Given the description of an element on the screen output the (x, y) to click on. 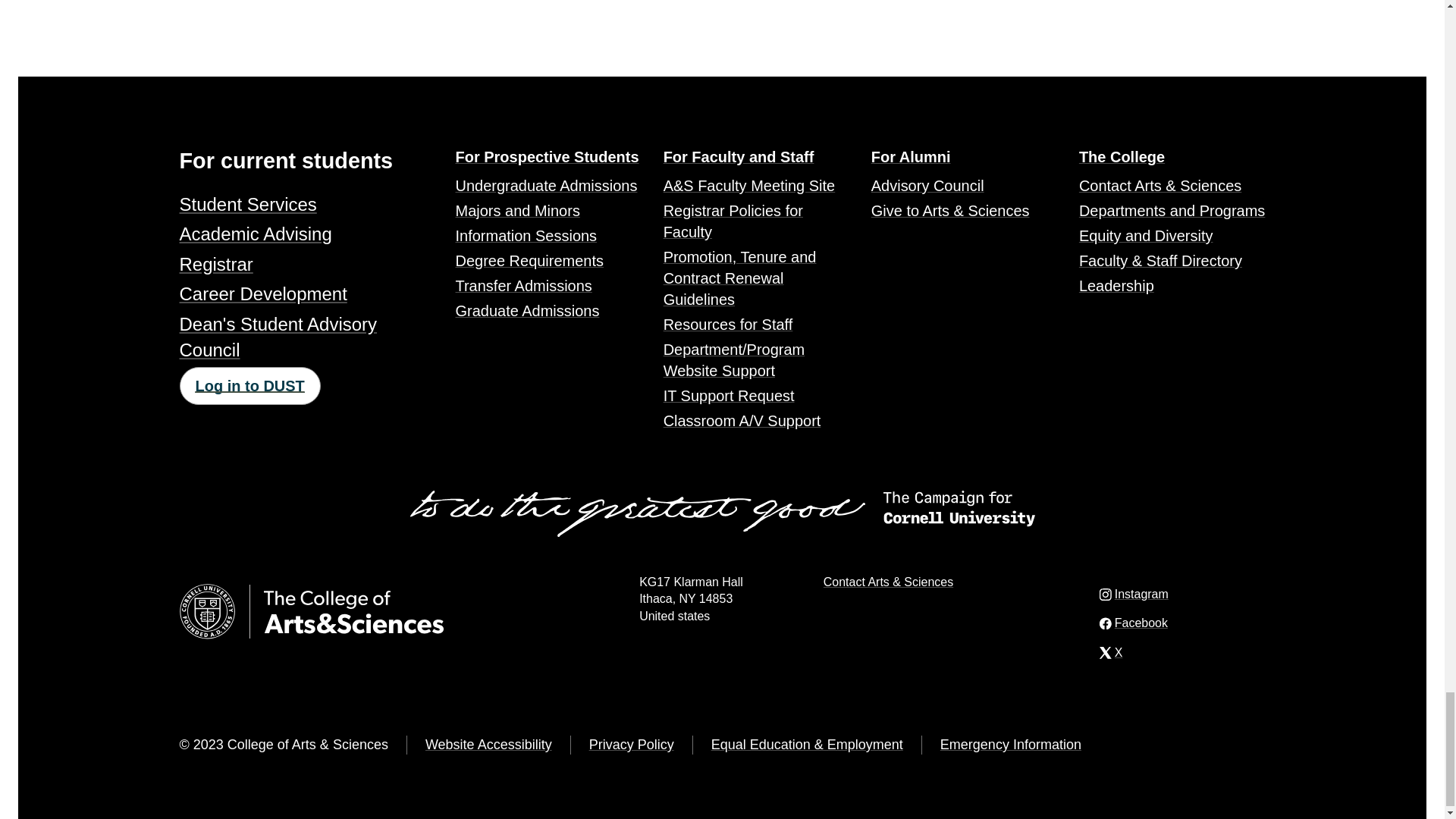
Cornell University (206, 611)
